Given the description of an element on the screen output the (x, y) to click on. 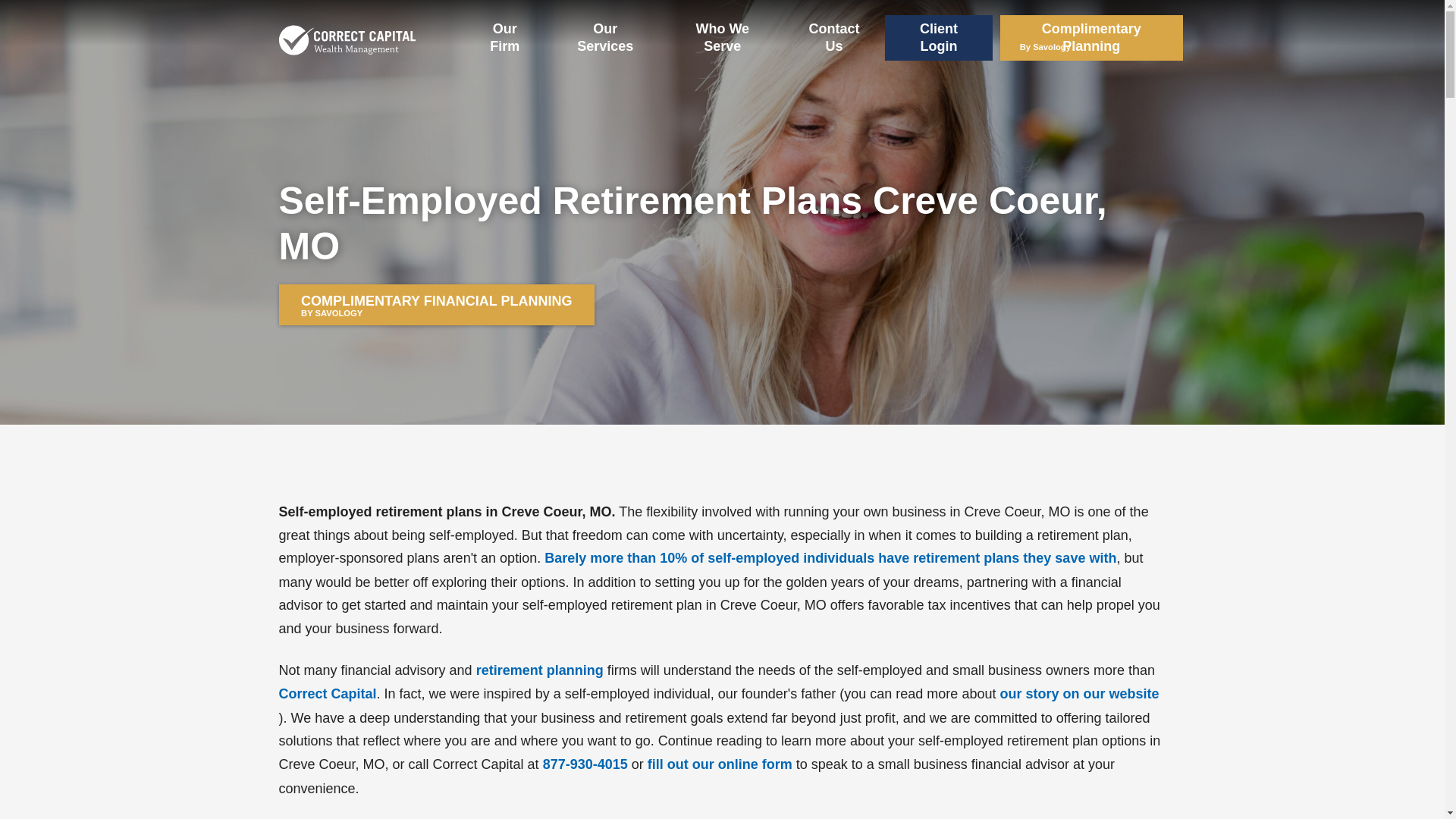
Client Login (938, 37)
877-930-4015 (585, 764)
our story on our website (1078, 694)
retirement planning (540, 671)
Our Services (604, 38)
Contact Us (834, 38)
Correct Capital (328, 694)
fill out our online form (719, 764)
Our Firm (504, 38)
Who We Serve (437, 304)
